Given the description of an element on the screen output the (x, y) to click on. 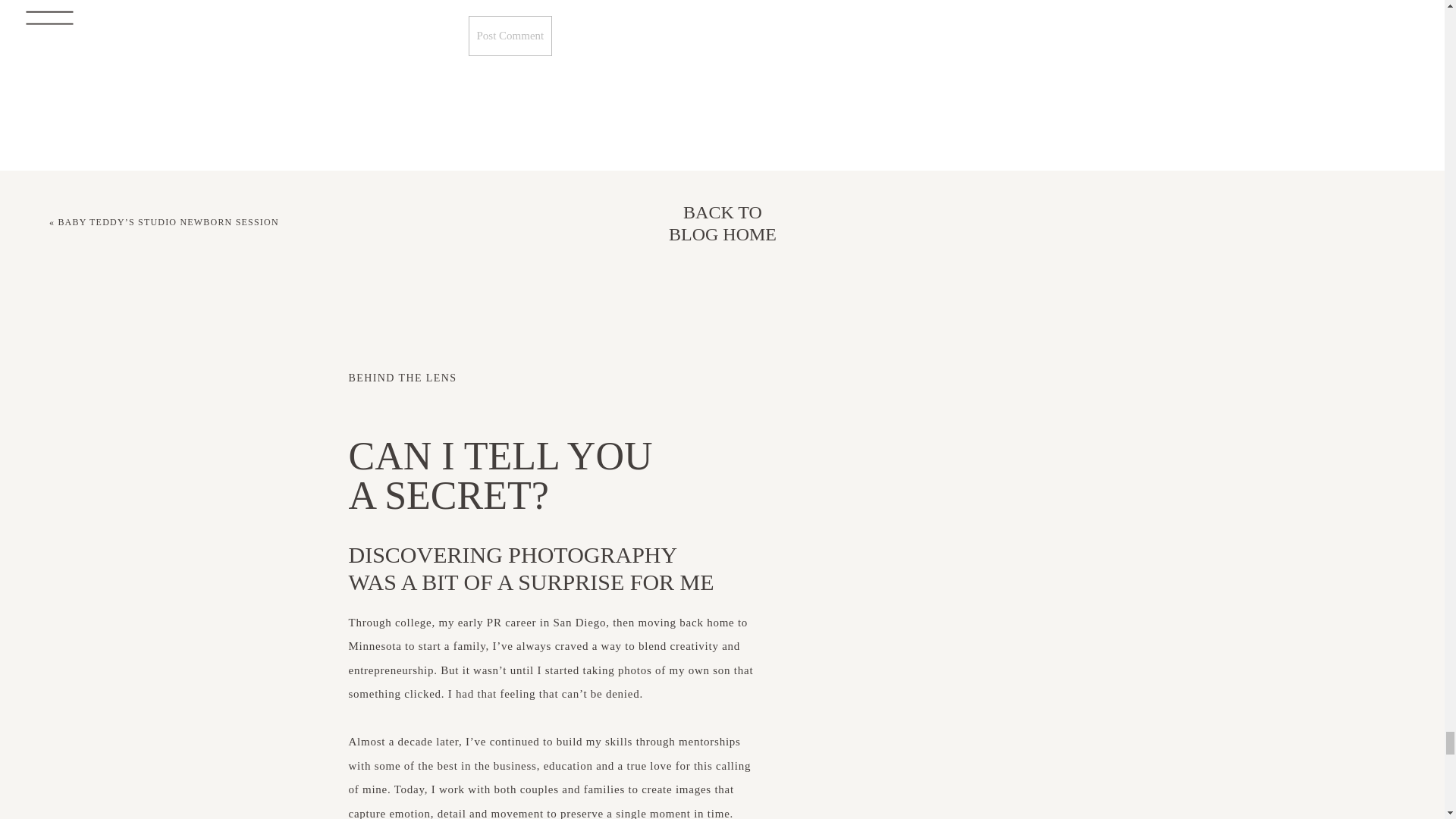
Post Comment (510, 35)
BACK TO BLOG HOME (722, 222)
Post Comment (510, 35)
